Given the description of an element on the screen output the (x, y) to click on. 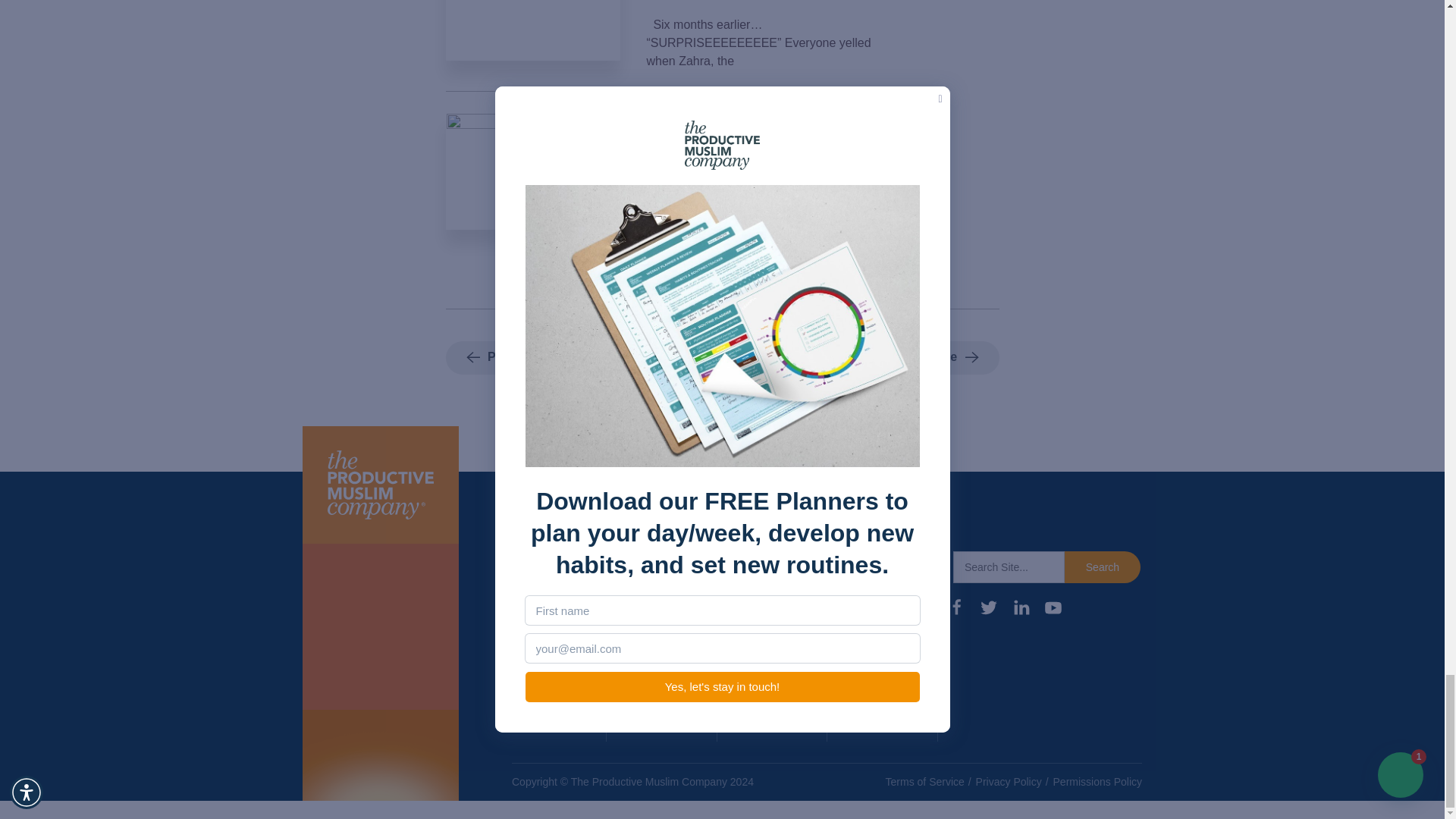
Book (636, 592)
Company News (541, 659)
Search (1102, 567)
Barakah Journal (646, 688)
Previous article (522, 357)
About Us (539, 592)
Lessons from a Dying Parent (763, 123)
Next article (934, 357)
Masterclass (657, 621)
Search (1102, 567)
Retreat (643, 650)
Our Story (541, 621)
